Given the description of an element on the screen output the (x, y) to click on. 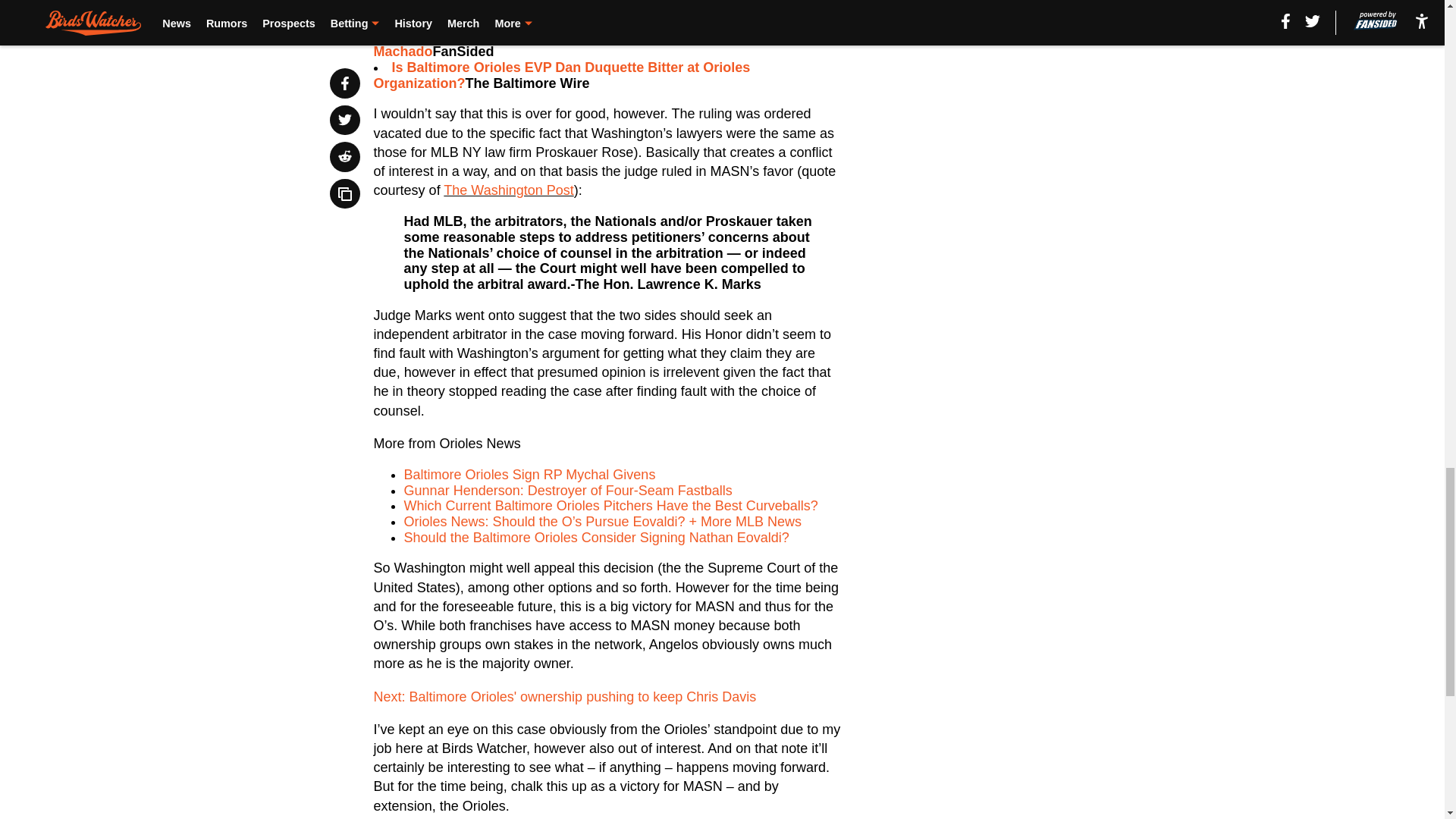
Manny Machado trade rumors: Diamondbacks, Orioles talk deal (573, 13)
The Washington Post (508, 190)
Gunnar Henderson: Destroyer of Four-Seam Fastballs (568, 490)
Baltimore Orioles Sign RP Mychal Givens (530, 474)
